Given the description of an element on the screen output the (x, y) to click on. 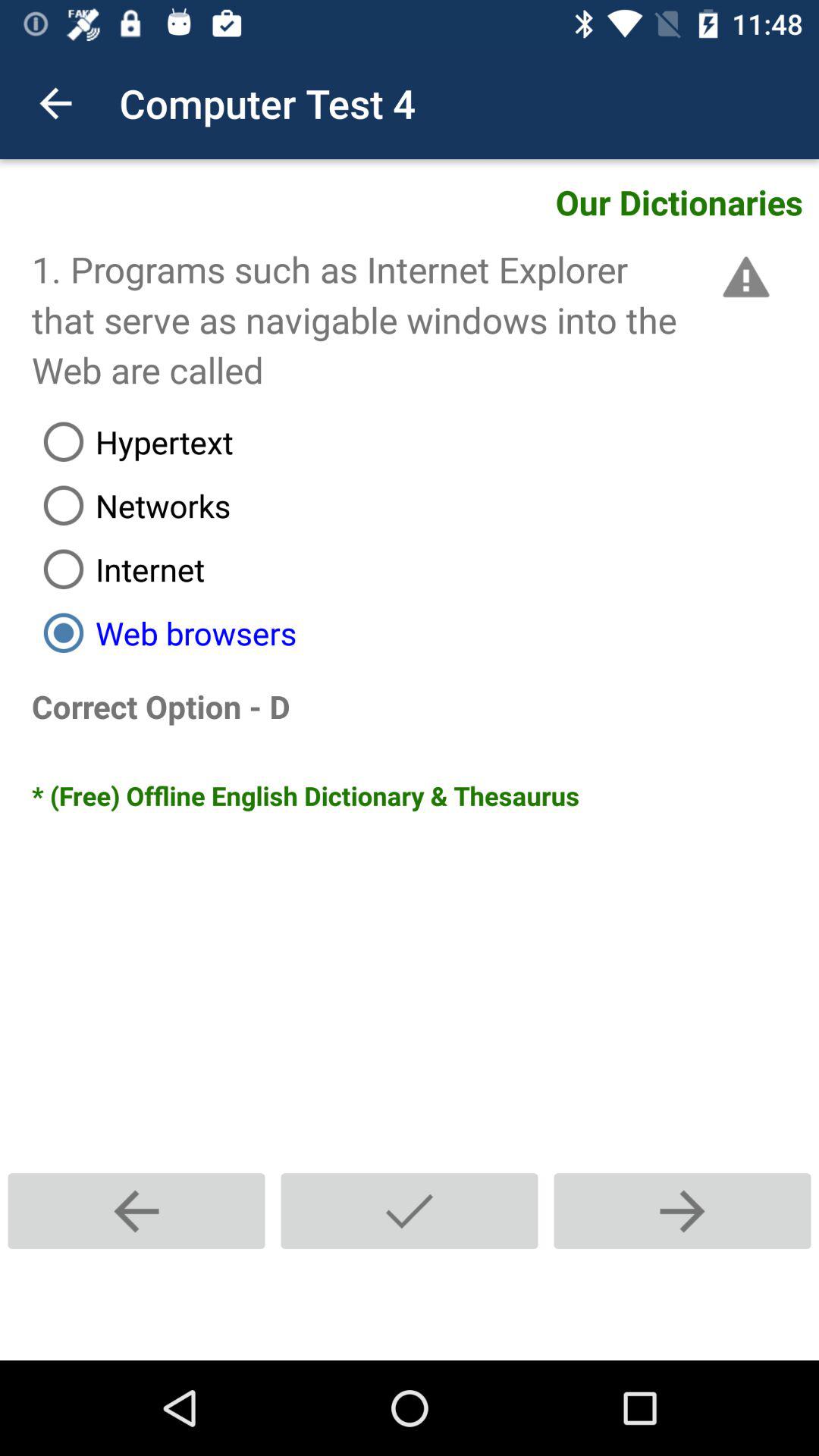
open the icon below 1 programs such icon (425, 441)
